Given the description of an element on the screen output the (x, y) to click on. 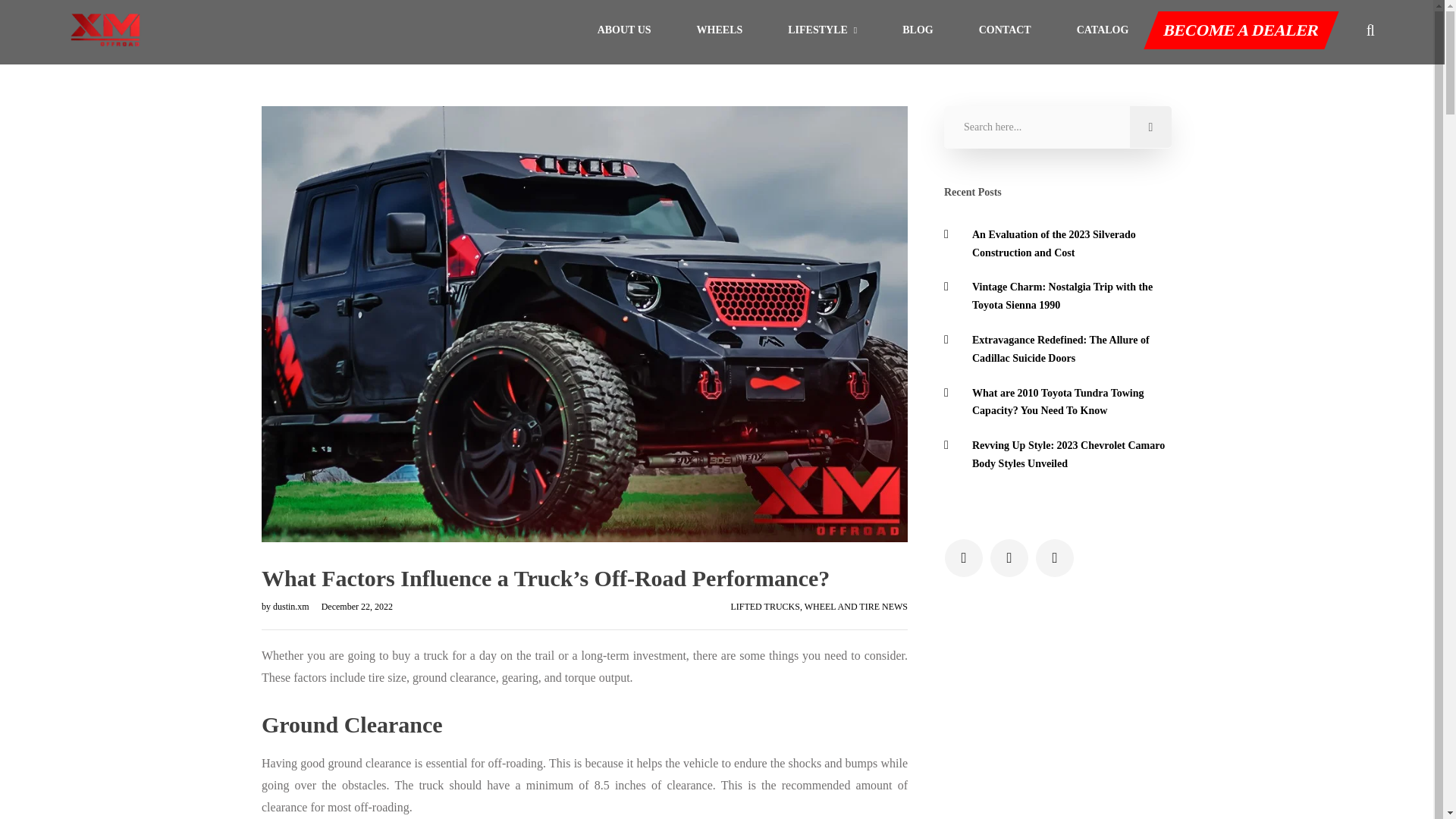
LIFTED TRUCKS (764, 606)
WHEELS (719, 30)
December 22, 2022 (352, 606)
ABOUT US (623, 30)
CATALOG (1103, 30)
dustin.xm (292, 606)
Search text (1057, 127)
CONTACT (1004, 30)
LIFESTYLE (822, 30)
WHEEL AND TIRE NEWS (856, 606)
